Given the description of an element on the screen output the (x, y) to click on. 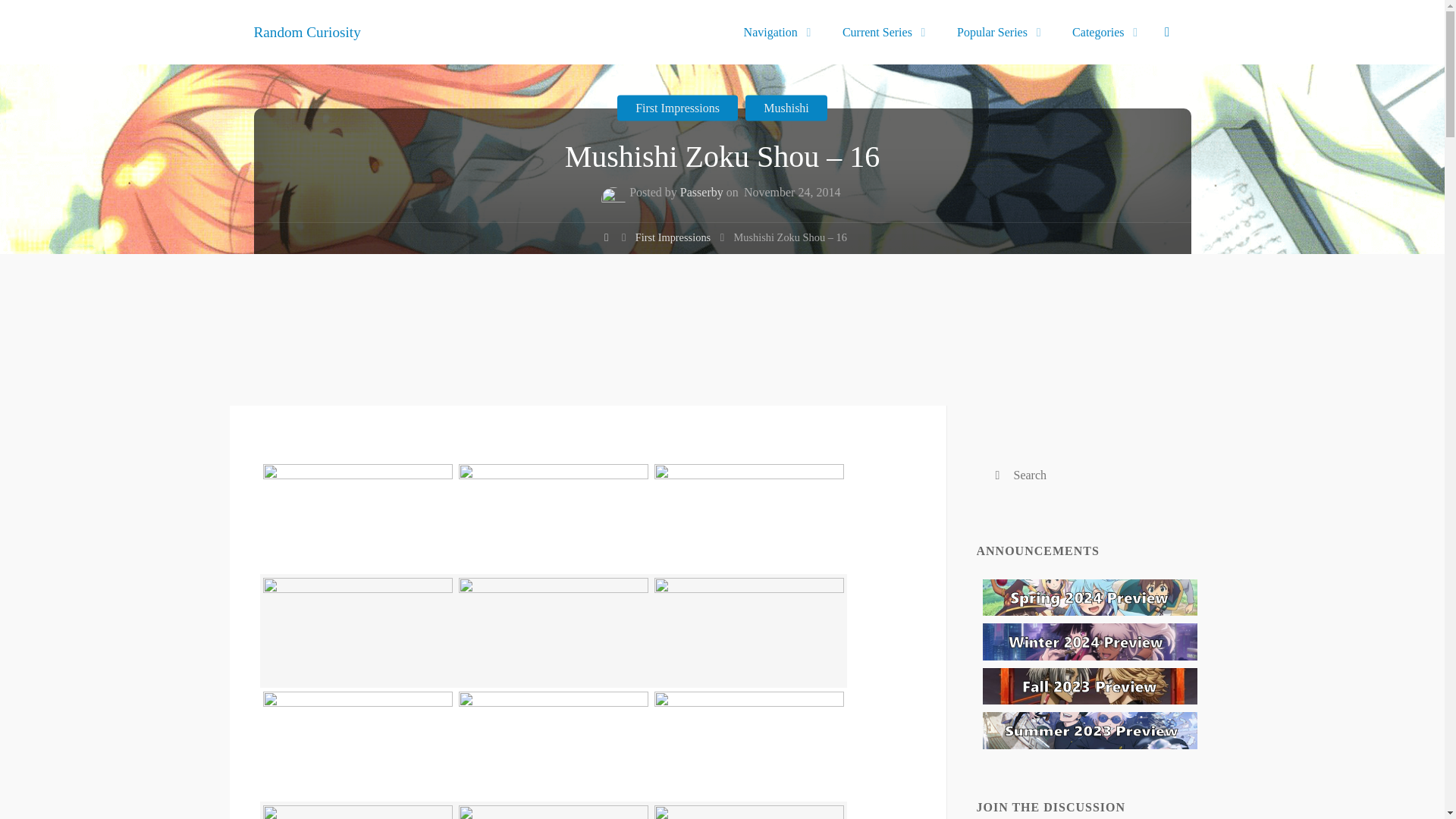
Current Series (885, 32)
Home (612, 239)
Navigation (778, 32)
View all posts by Passerby (707, 194)
Random Curiosity (312, 31)
Daily Anime Goodness (312, 31)
